Given the description of an element on the screen output the (x, y) to click on. 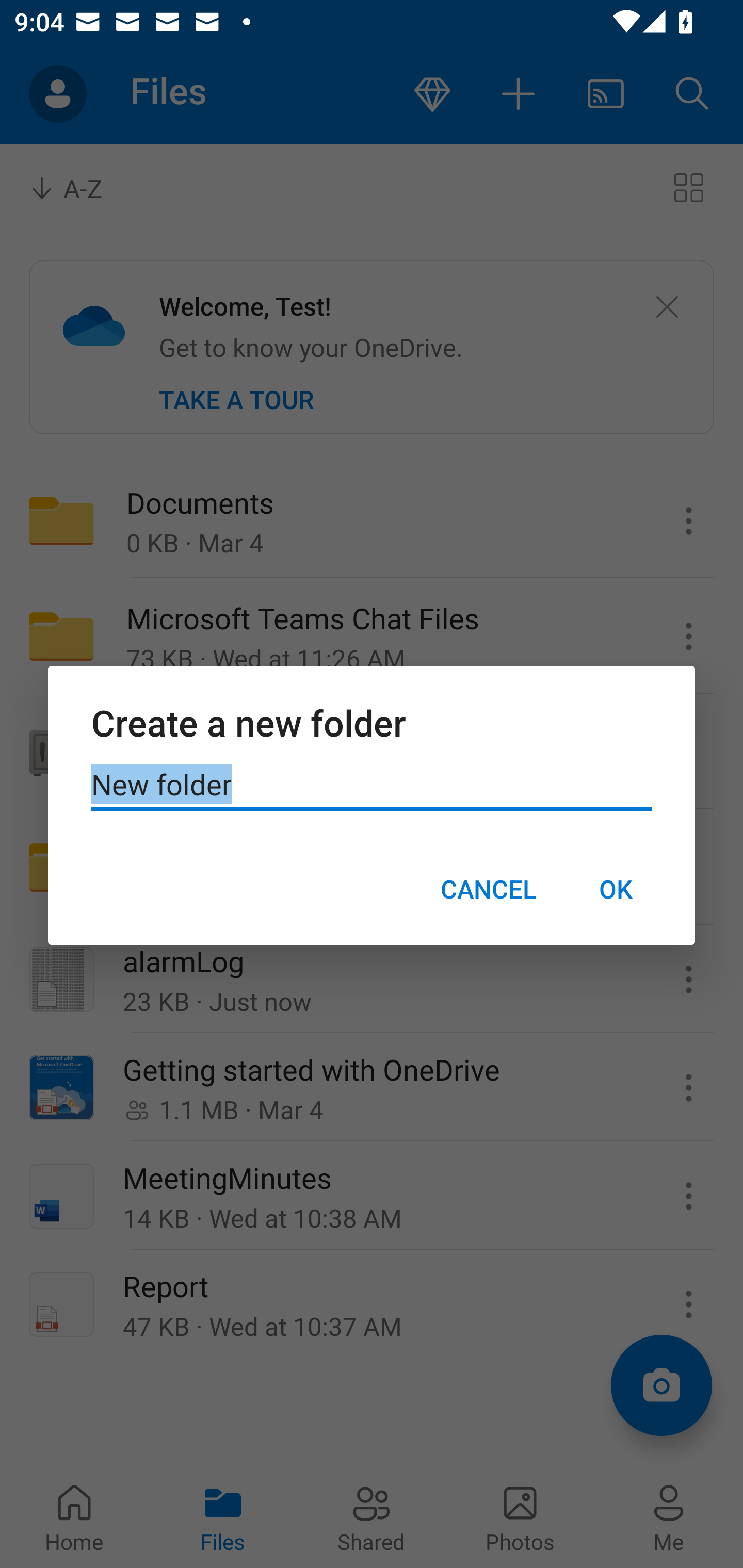
New folder (371, 784)
CANCEL (488, 888)
OK (615, 888)
